Given the description of an element on the screen output the (x, y) to click on. 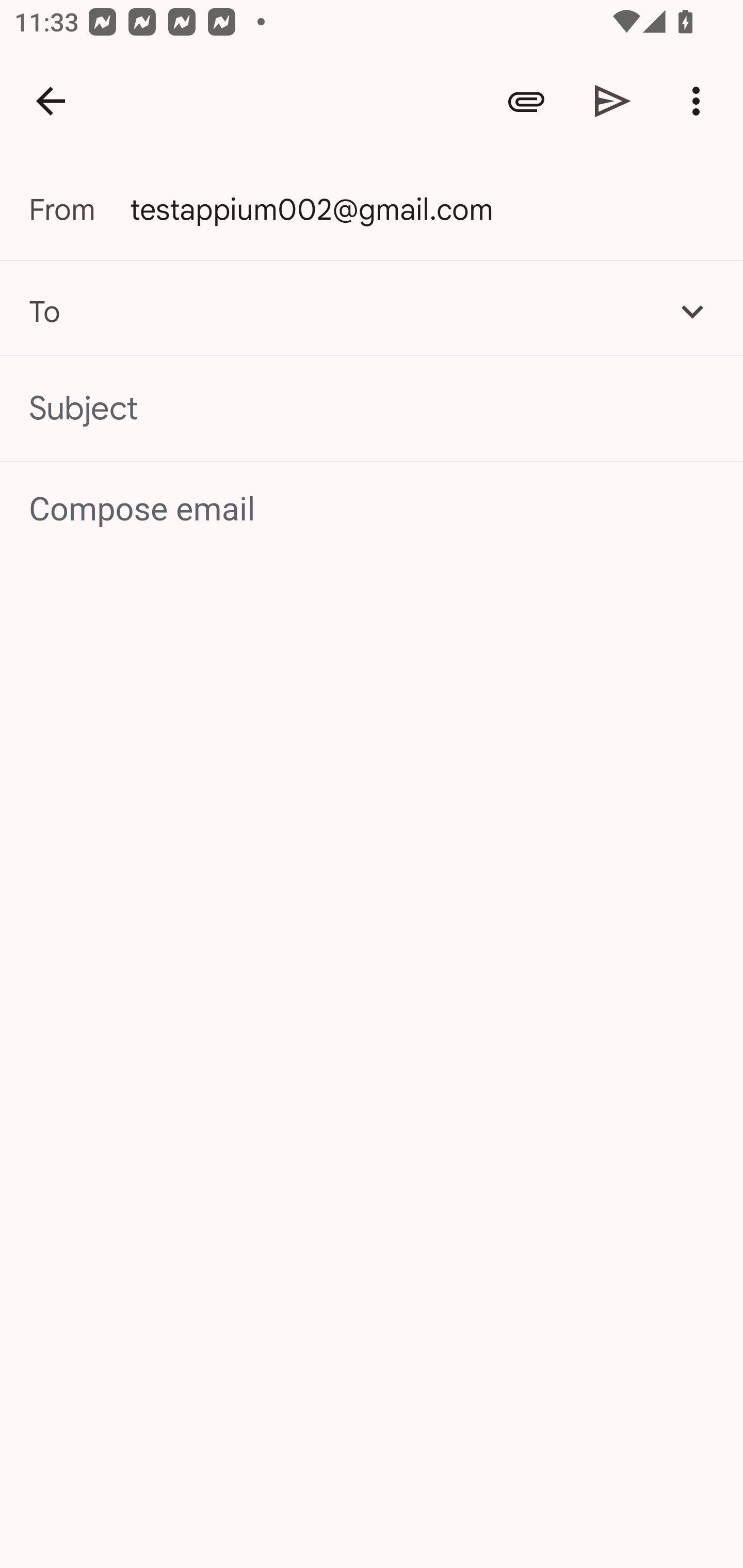
Navigate up (50, 101)
Attach file (525, 101)
Send (612, 101)
More options (699, 101)
From (79, 209)
Add Cc/Bcc (692, 311)
Subject (371, 407)
